Given the description of an element on the screen output the (x, y) to click on. 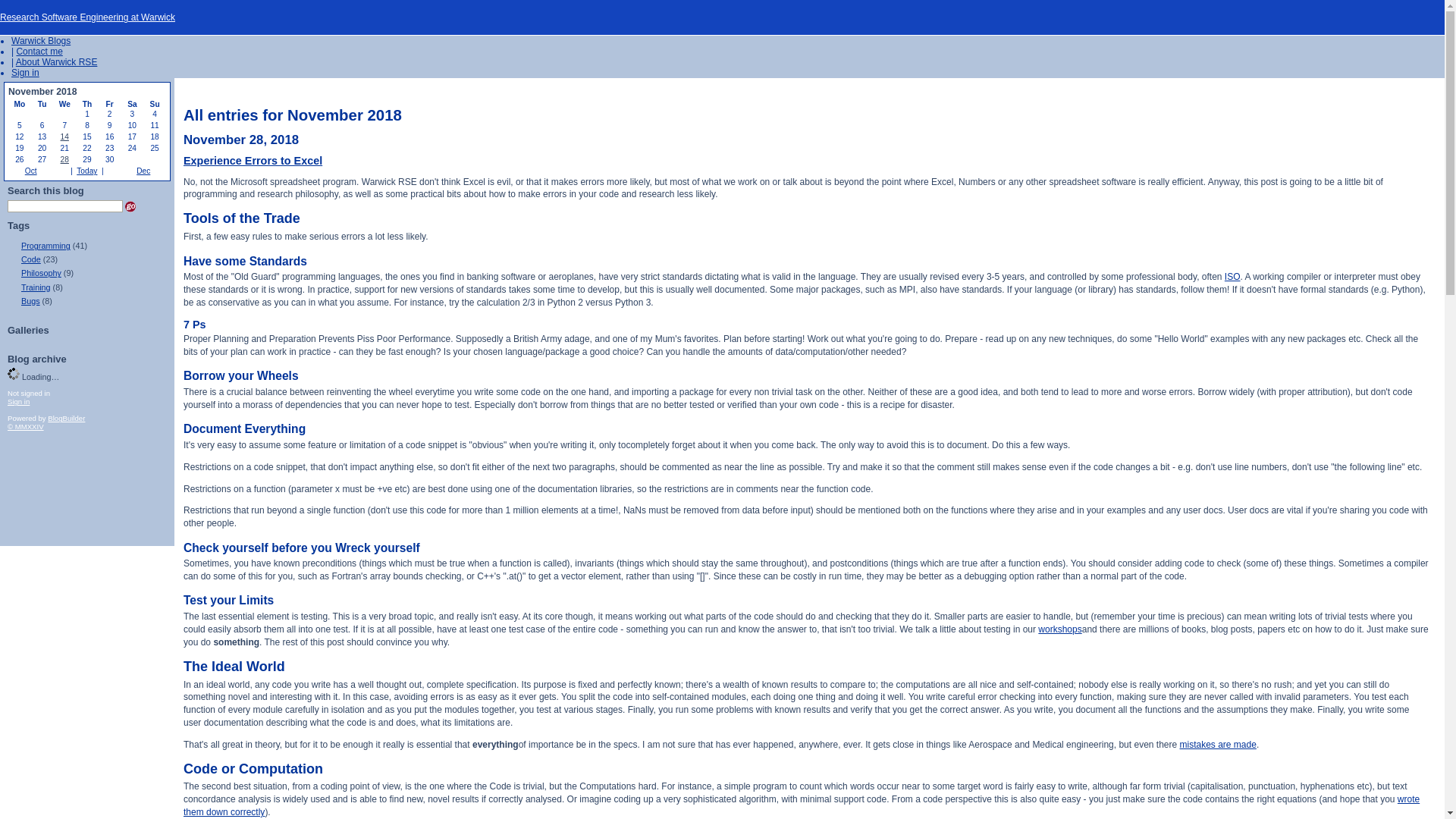
1 entry on 14 November 2018 (64, 136)
ISO (1232, 276)
workshops (1059, 629)
Sign in (25, 72)
Oct (30, 171)
mistakes are made (1217, 744)
wrote them down correctly (801, 805)
About Warwick RSE (56, 61)
Research Software Engineering at Warwick (87, 17)
Experience Errors to Excel (252, 160)
November 2018 (42, 91)
Contact me (39, 50)
Warwick Blogs (40, 40)
